Given the description of an element on the screen output the (x, y) to click on. 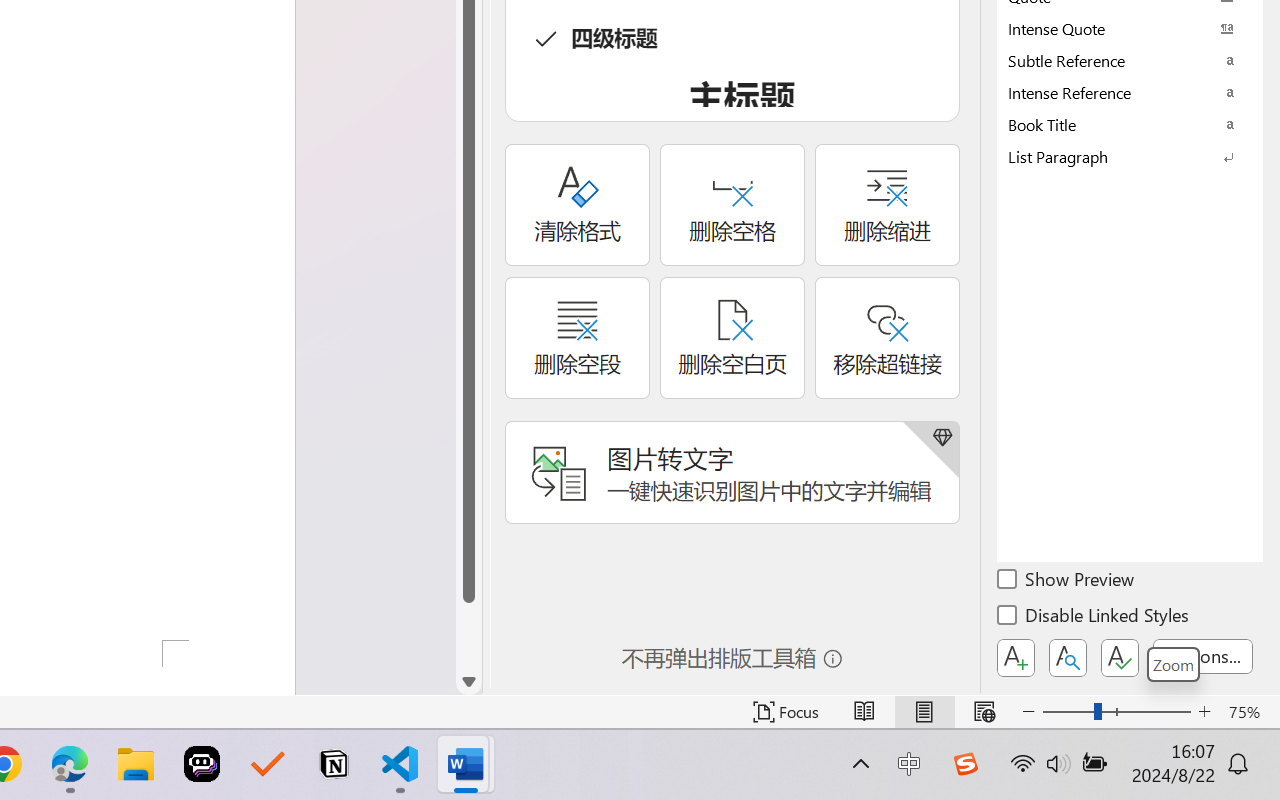
Zoom Out (1067, 712)
Show Preview (1067, 582)
Print Layout (924, 712)
Class: Image (965, 764)
Class: NetUIButton (1119, 657)
Options... (1203, 656)
Intense Quote (1130, 28)
